Given the description of an element on the screen output the (x, y) to click on. 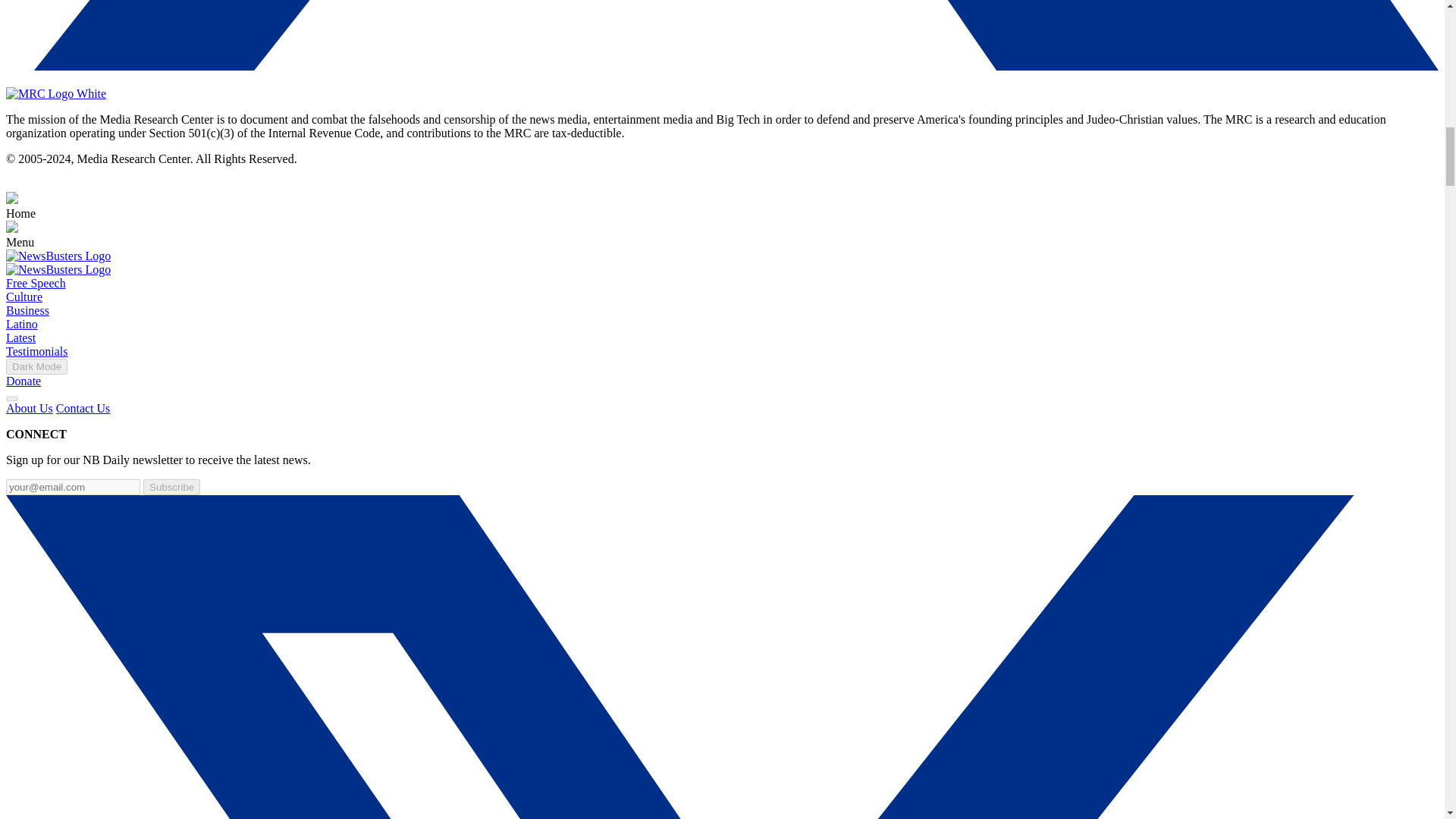
Dark Mode (35, 366)
Contact Us (83, 408)
Testimonials (36, 350)
Donate (22, 380)
About Us (28, 408)
Subscribe (171, 487)
